Given the description of an element on the screen output the (x, y) to click on. 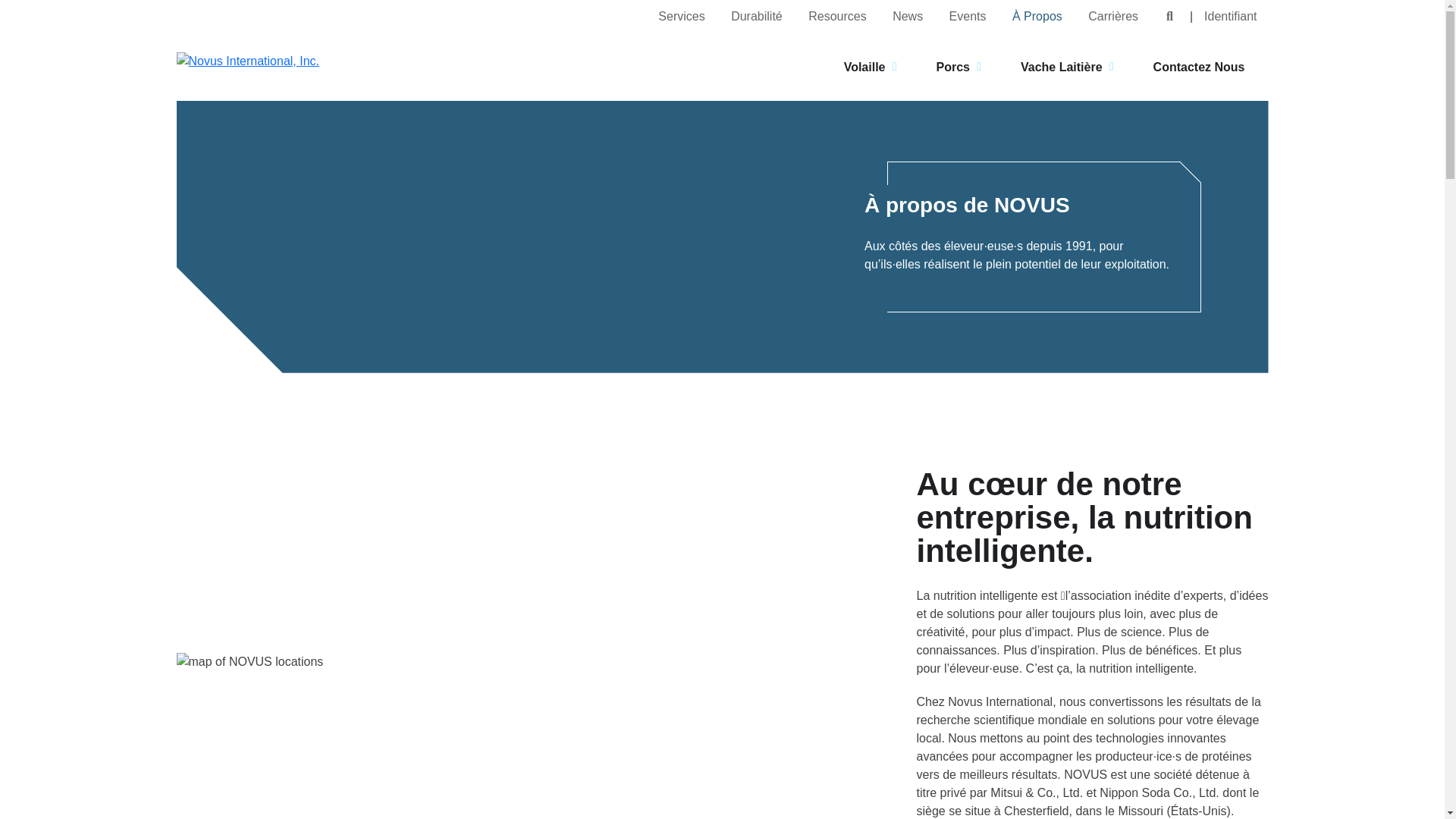
Porcs (962, 66)
News (907, 16)
Resources (836, 16)
Resources (836, 16)
Events (967, 16)
News (907, 16)
Services (681, 16)
Events (967, 16)
Services (681, 16)
Back to home (305, 66)
Identifiant (1230, 16)
Open Search Popup (1169, 16)
Volaille (874, 66)
Identifiant (1230, 16)
